Given the description of an element on the screen output the (x, y) to click on. 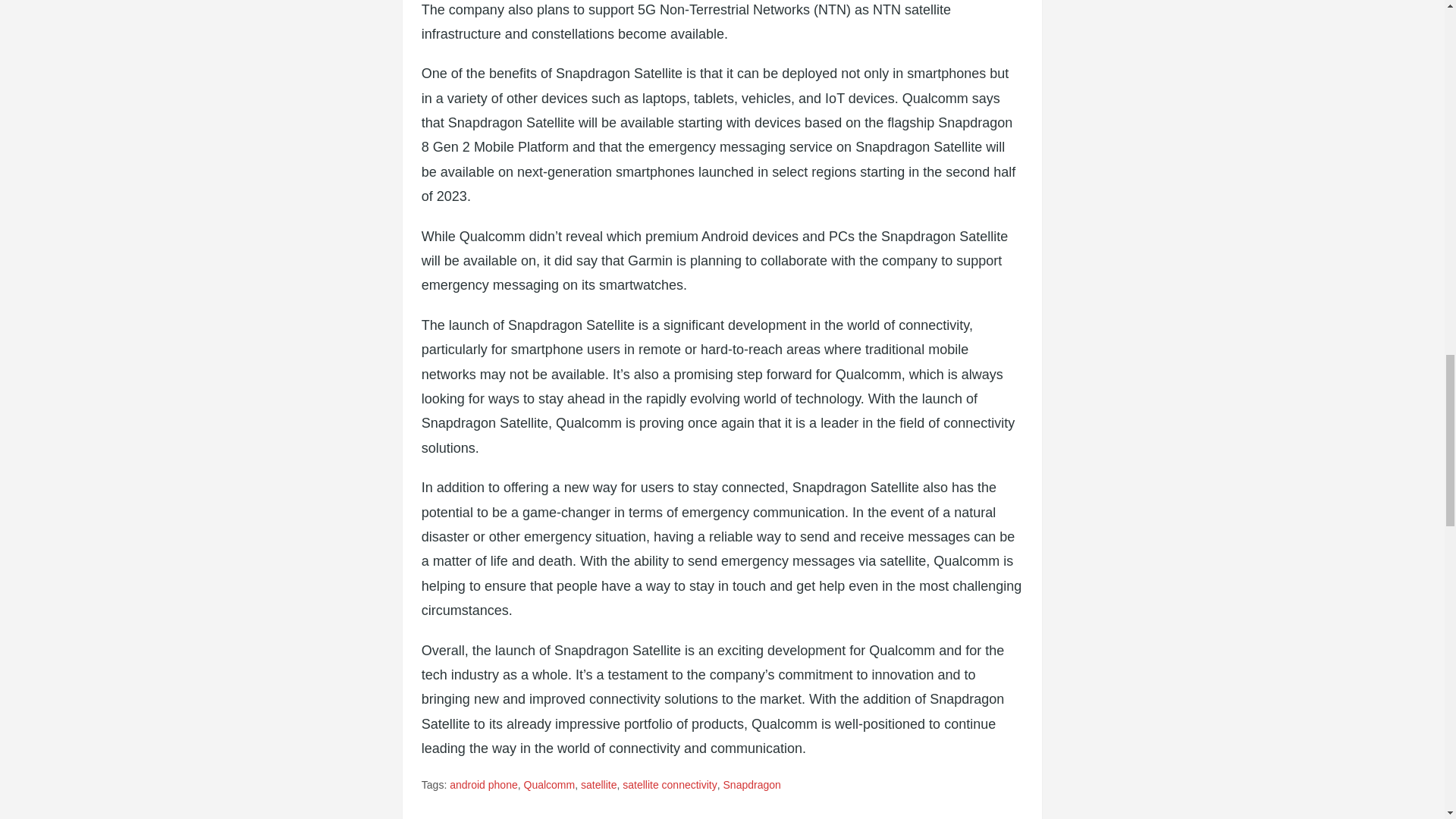
satellite (597, 784)
android phone (483, 784)
Qualcomm (548, 784)
Snapdragon (751, 784)
satellite connectivity (670, 784)
